Given the description of an element on the screen output the (x, y) to click on. 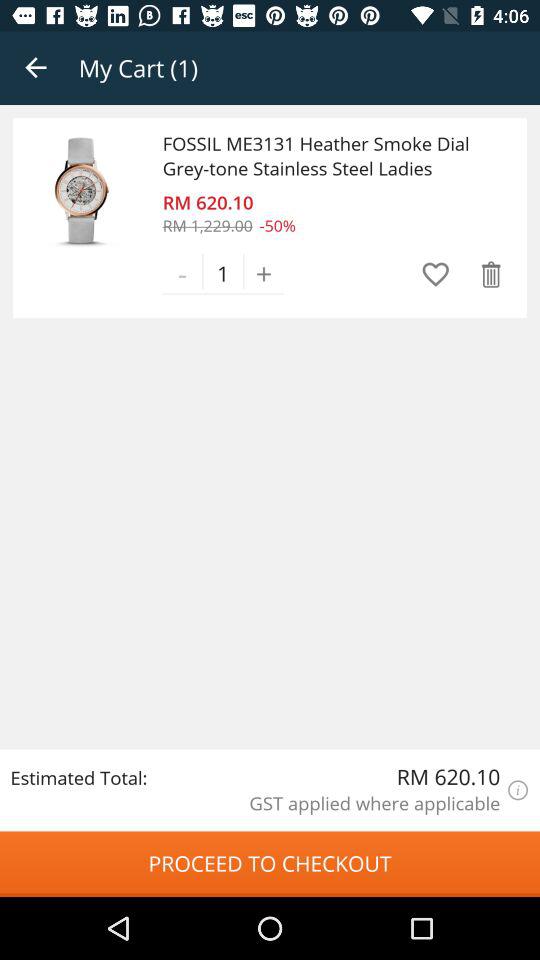
turn on item above the estimated total: icon (82, 190)
